Given the description of an element on the screen output the (x, y) to click on. 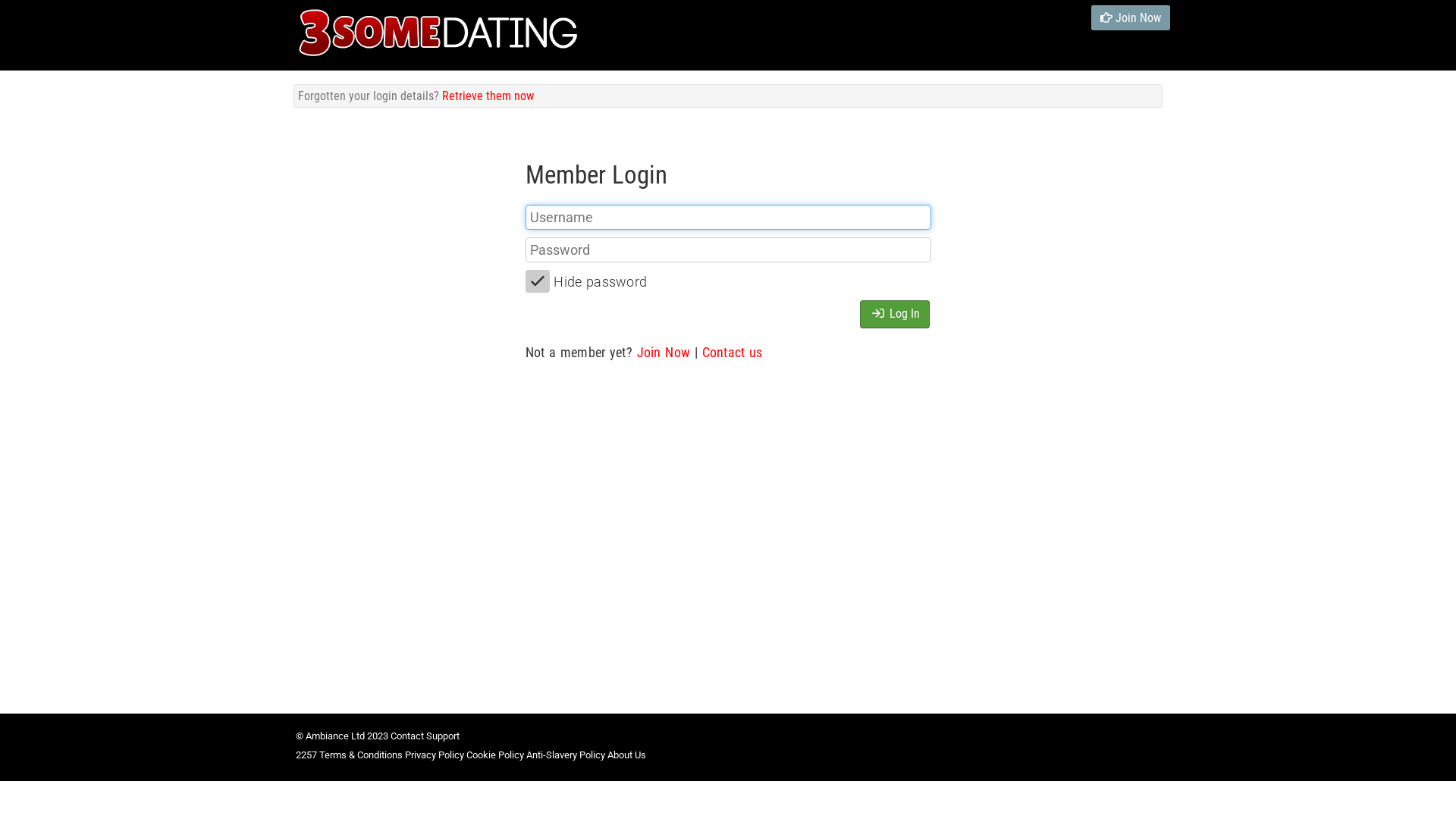
Cookie Policy Element type: text (495, 754)
Anti-Slavery Policy Element type: text (565, 754)
Retrieve them now Element type: text (487, 95)
About Us Element type: text (626, 754)
Privacy Policy Element type: text (434, 754)
 Join Now Element type: text (1130, 17)
Contact Support Element type: text (424, 735)
Terms & Conditions Element type: text (360, 754)
 Log In Element type: text (894, 314)
Contact us Element type: text (732, 352)
Join Now Element type: text (663, 352)
2257 Element type: text (305, 754)
